Given the description of an element on the screen output the (x, y) to click on. 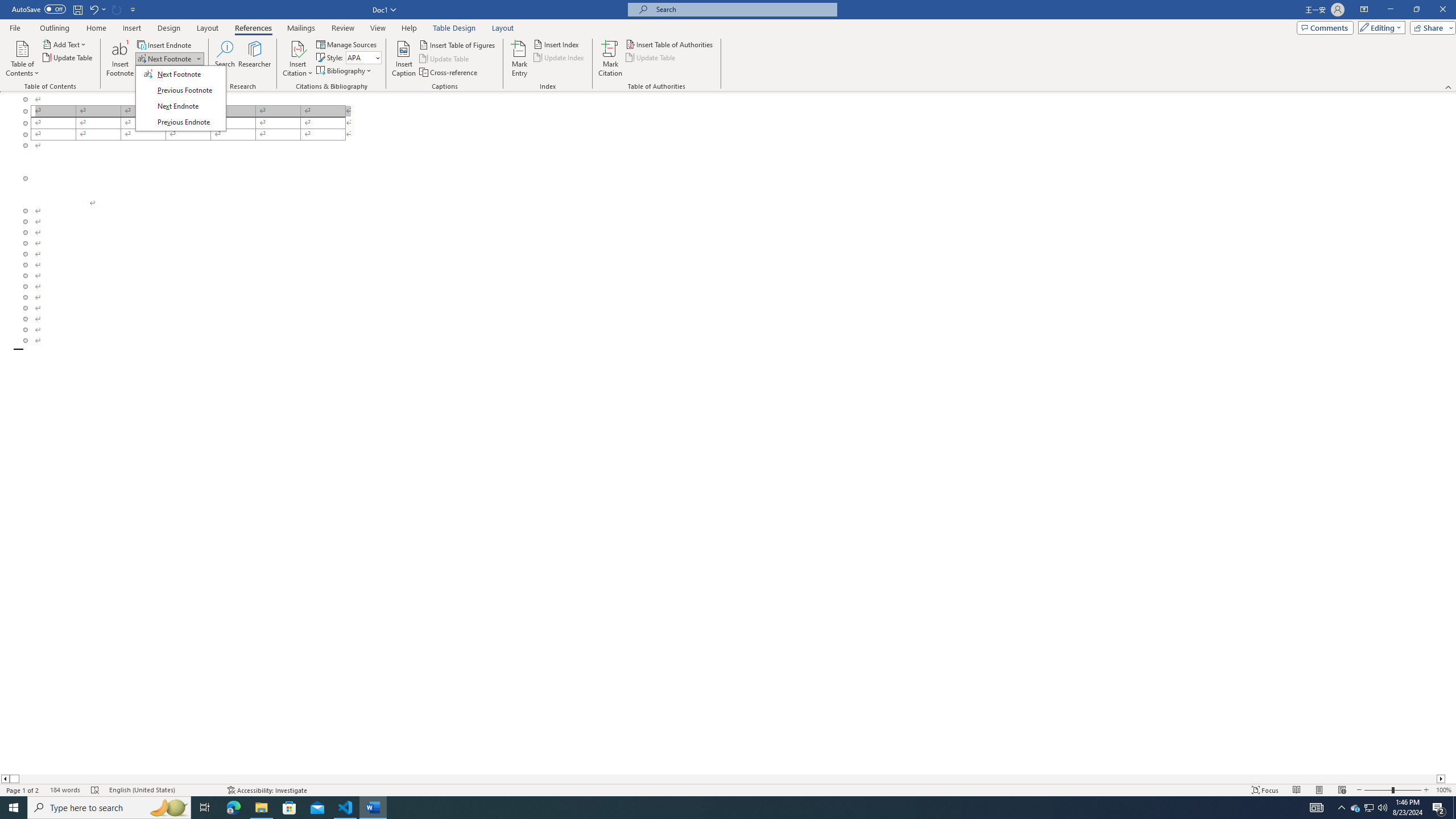
Add Text (65, 44)
Column left (5, 778)
Insert Table of Figures... (458, 44)
Outlining (54, 28)
Running applications (717, 807)
Word Count 184 words (64, 790)
Update Table... (68, 56)
